Given the description of an element on the screen output the (x, y) to click on. 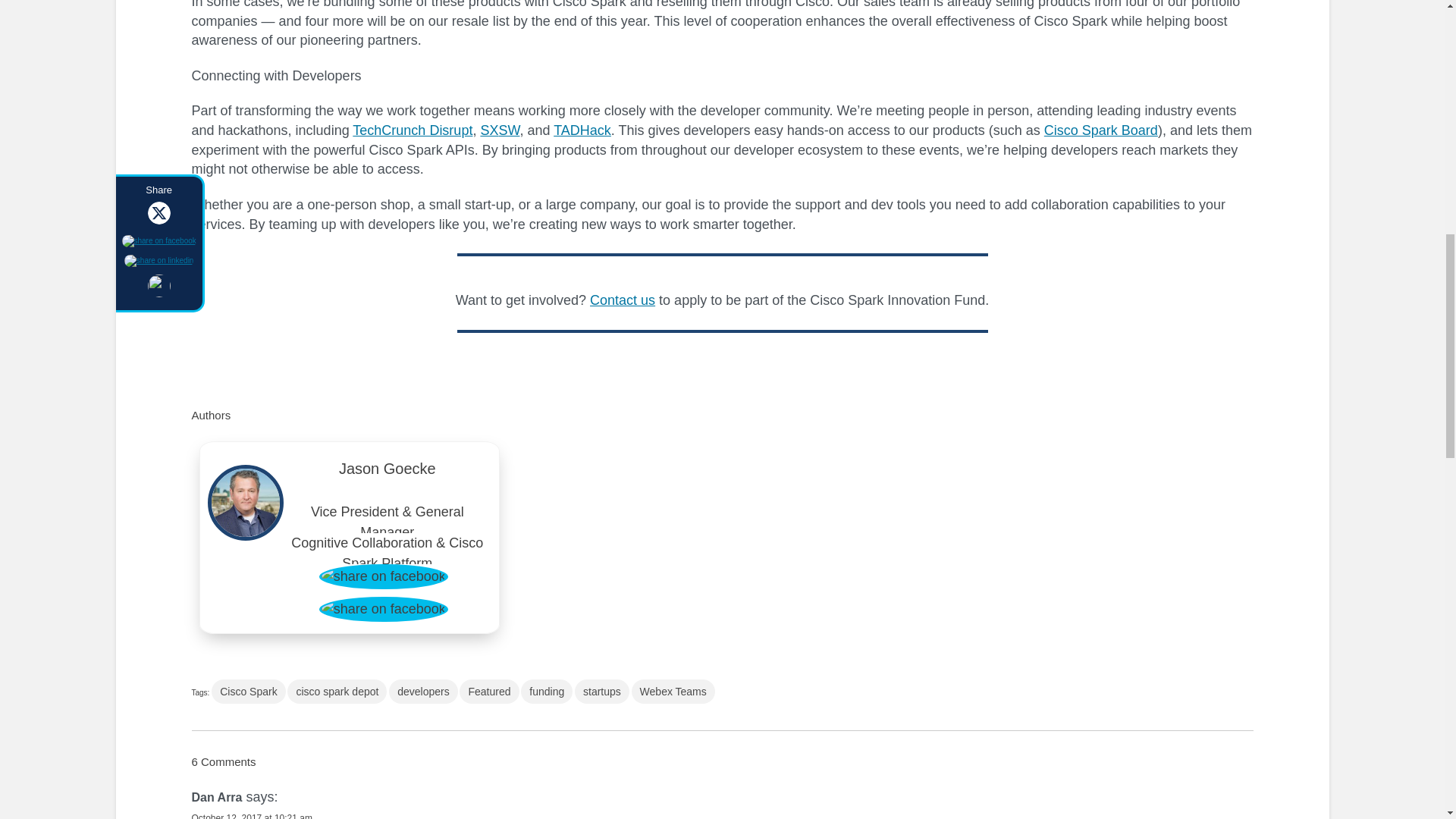
Cisco Spark (248, 691)
Contact us (622, 299)
TechCrunch Disrupt (411, 130)
Webex Teams (672, 691)
Cisco Spark Board (1100, 130)
TADHack (582, 130)
SW (508, 130)
developers (423, 691)
October 12, 2017 at 10:21 am (250, 816)
SX (488, 130)
